Given the description of an element on the screen output the (x, y) to click on. 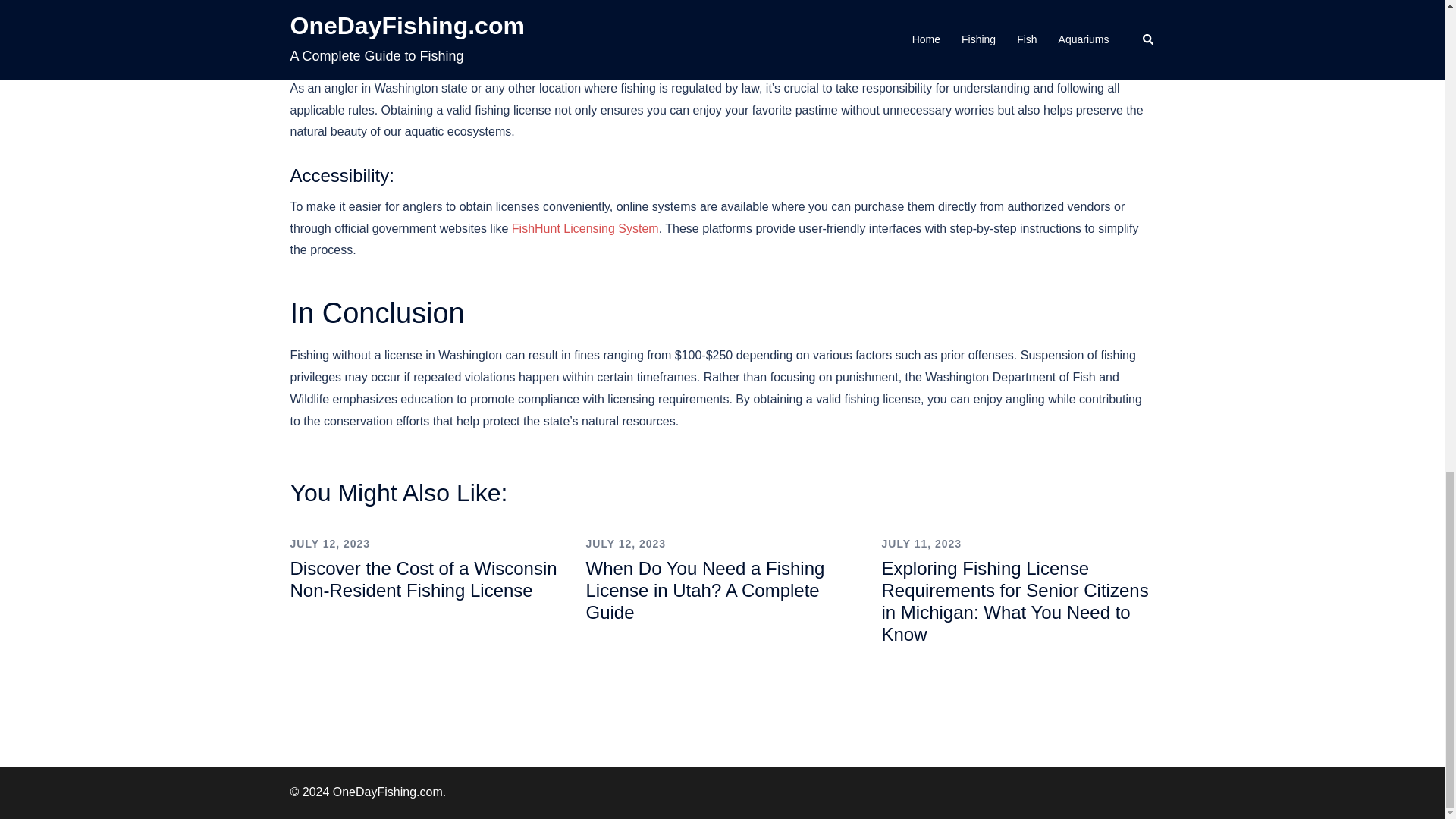
When Do You Need a Fishing License in Utah? A Complete Guide (704, 589)
JULY 12, 2023 (625, 543)
FishHunt Licensing System (585, 228)
JULY 12, 2023 (329, 543)
JULY 11, 2023 (920, 543)
